Given the description of an element on the screen output the (x, y) to click on. 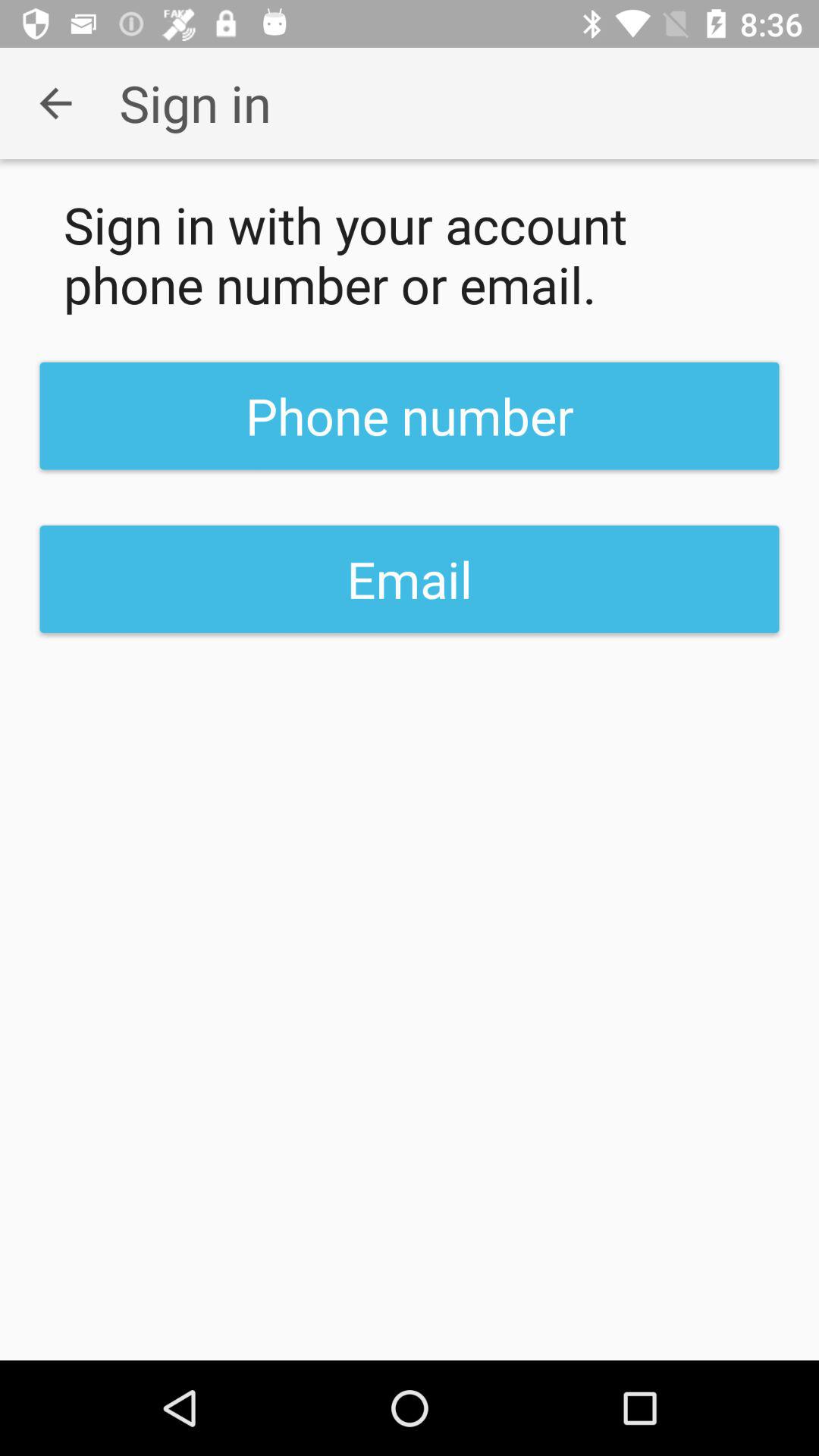
select the app to the left of sign in item (55, 103)
